Given the description of an element on the screen output the (x, y) to click on. 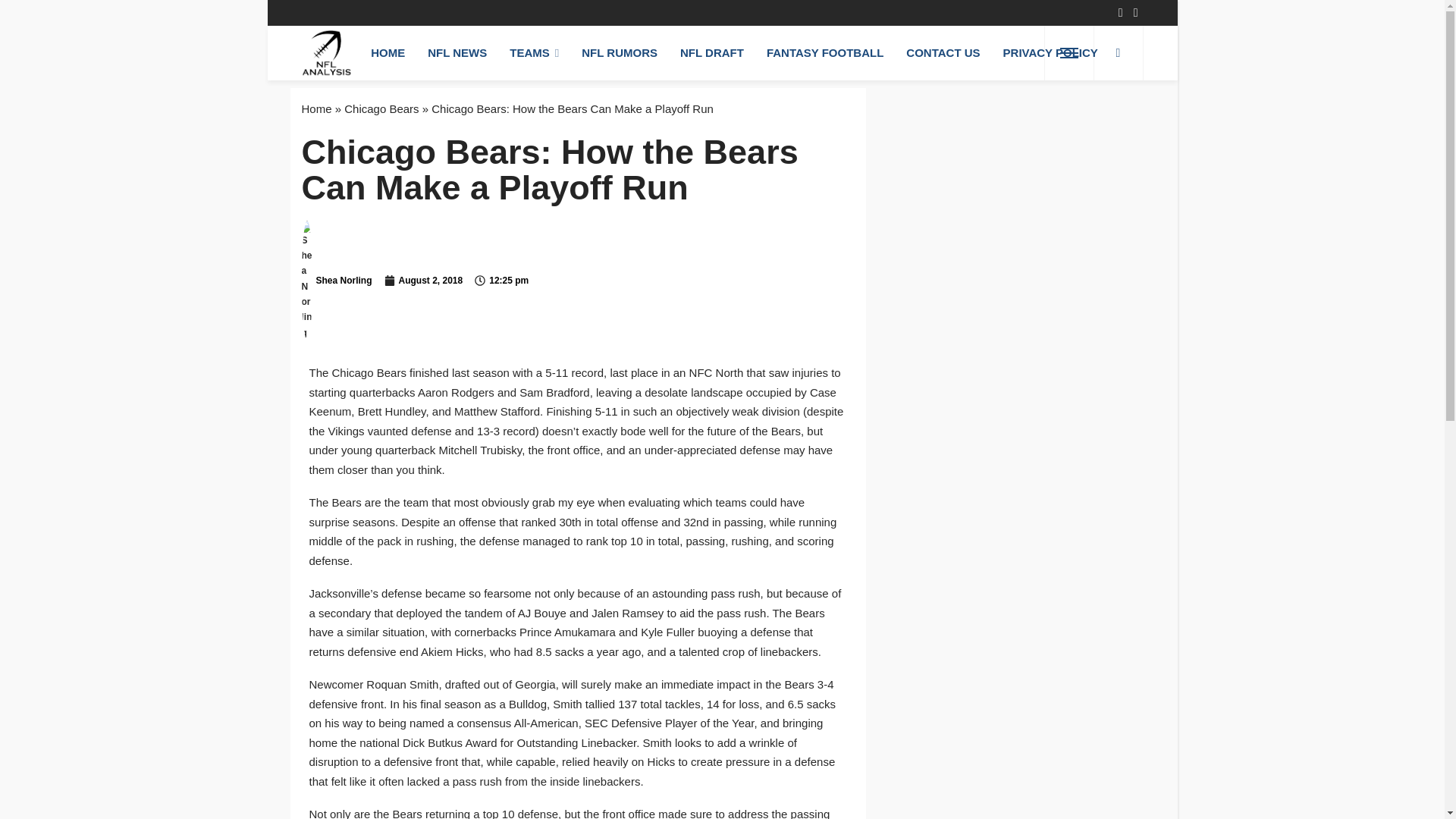
NFL Analysis Network (326, 52)
